Given the description of an element on the screen output the (x, y) to click on. 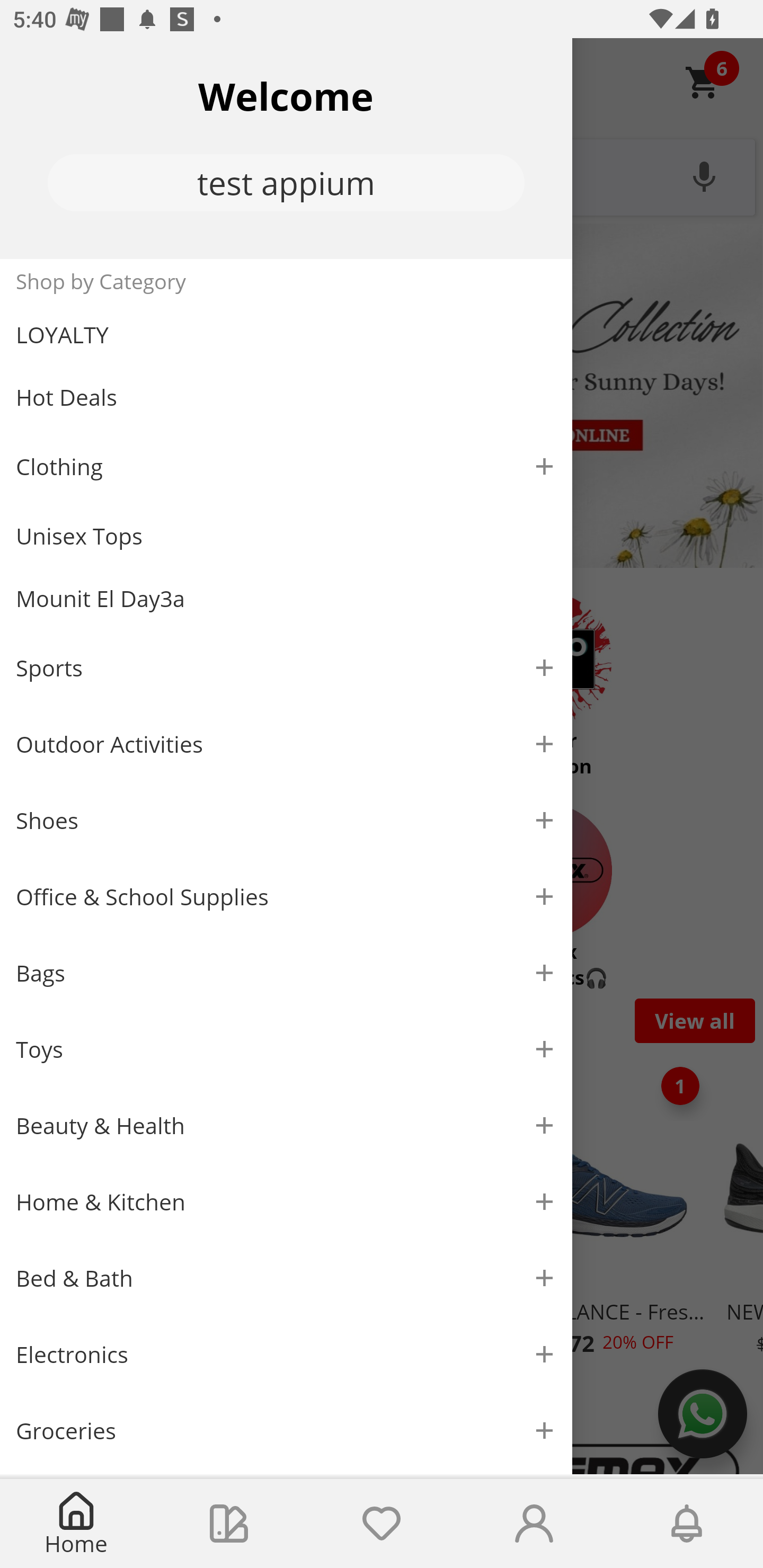
Welcome test appium (286, 147)
What are you looking for? (381, 175)
LOYALTY (286, 334)
Hot Deals (286, 396)
Clothing (286, 466)
Unisex Tops (286, 535)
Mounit El Day3a (286, 598)
Sports (286, 667)
Outdoor Activities (286, 743)
Shoes (286, 820)
Office & School Supplies (286, 896)
Bags (286, 972)
Toys (286, 1049)
Beauty & Health (286, 1125)
Home & Kitchen (286, 1201)
Bed & Bath (286, 1278)
Electronics (286, 1354)
Groceries (286, 1430)
Collections (228, 1523)
Wishlist (381, 1523)
Account (533, 1523)
Notifications (686, 1523)
